Given the description of an element on the screen output the (x, y) to click on. 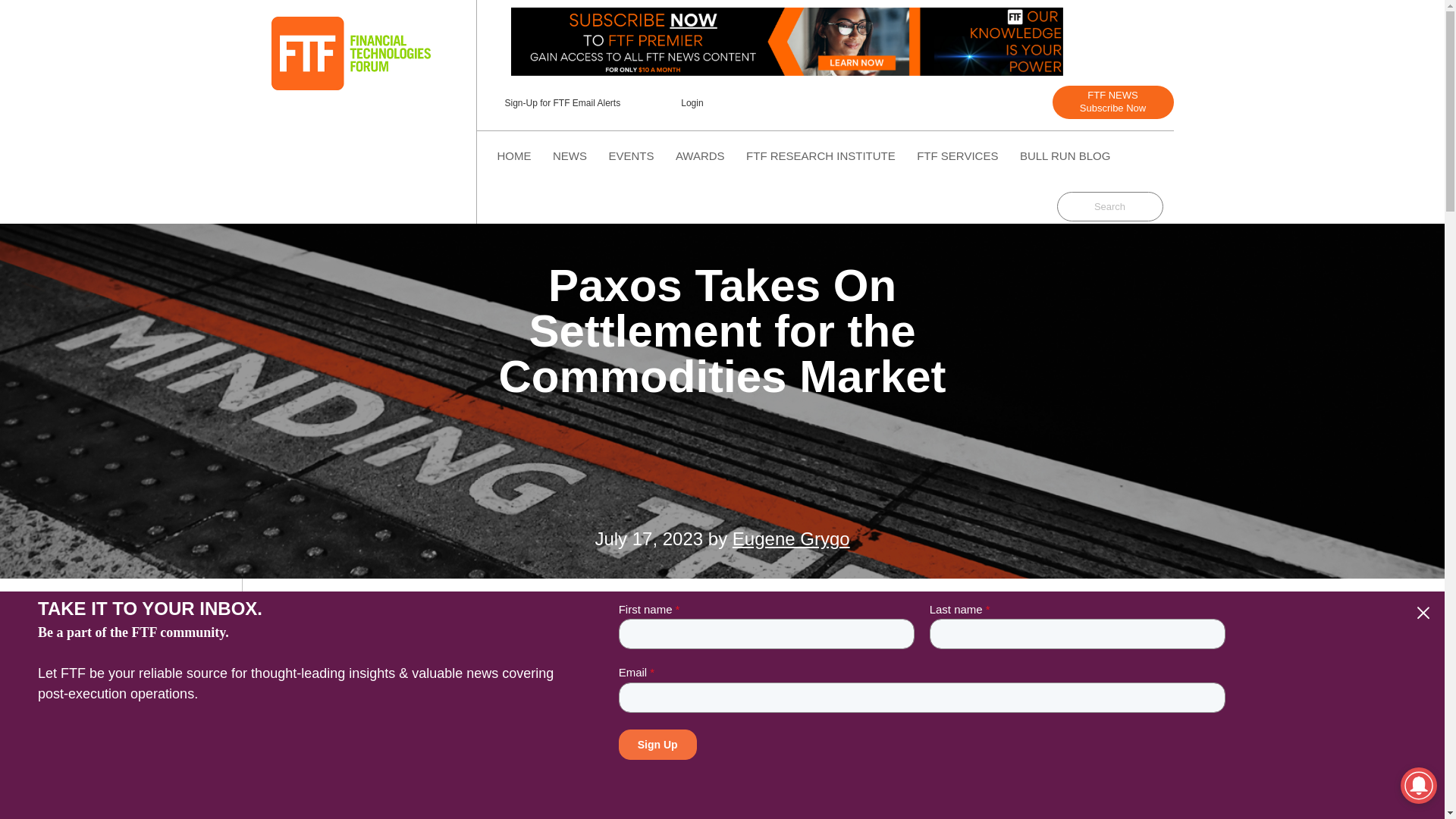
NEWS (570, 155)
FTF SERVICES (957, 155)
FTF NEWS (350, 53)
EVENTS (1112, 101)
Securities Operations (631, 155)
Search (1064, 155)
AWARDS (720, 331)
Login (700, 155)
HOME (691, 103)
Sign-Up for FTF Email Alerts (513, 155)
